Given the description of an element on the screen output the (x, y) to click on. 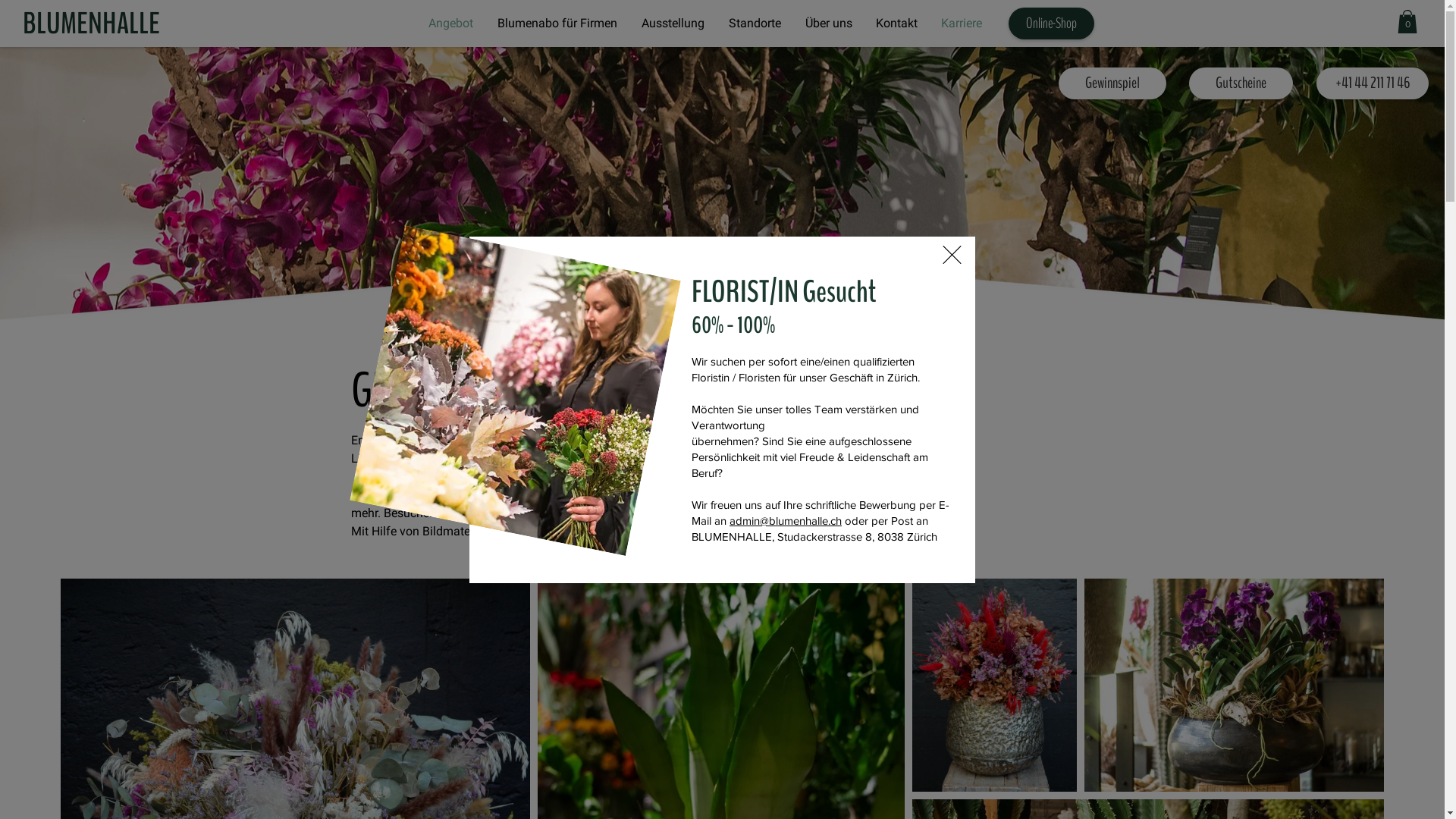
0 Element type: text (1407, 21)
Online-Shop Element type: text (1051, 23)
Karriere Element type: text (961, 23)
Gutscheine Element type: text (1240, 83)
Angebot Element type: text (449, 23)
Kontakt Element type: text (896, 23)
Gewinnspiel Element type: text (1112, 83)
BLUMENHALLE Element type: text (91, 23)
+41 44 211 71 46 Element type: text (1372, 83)
Ausstellung Element type: text (672, 23)
